Given the description of an element on the screen output the (x, y) to click on. 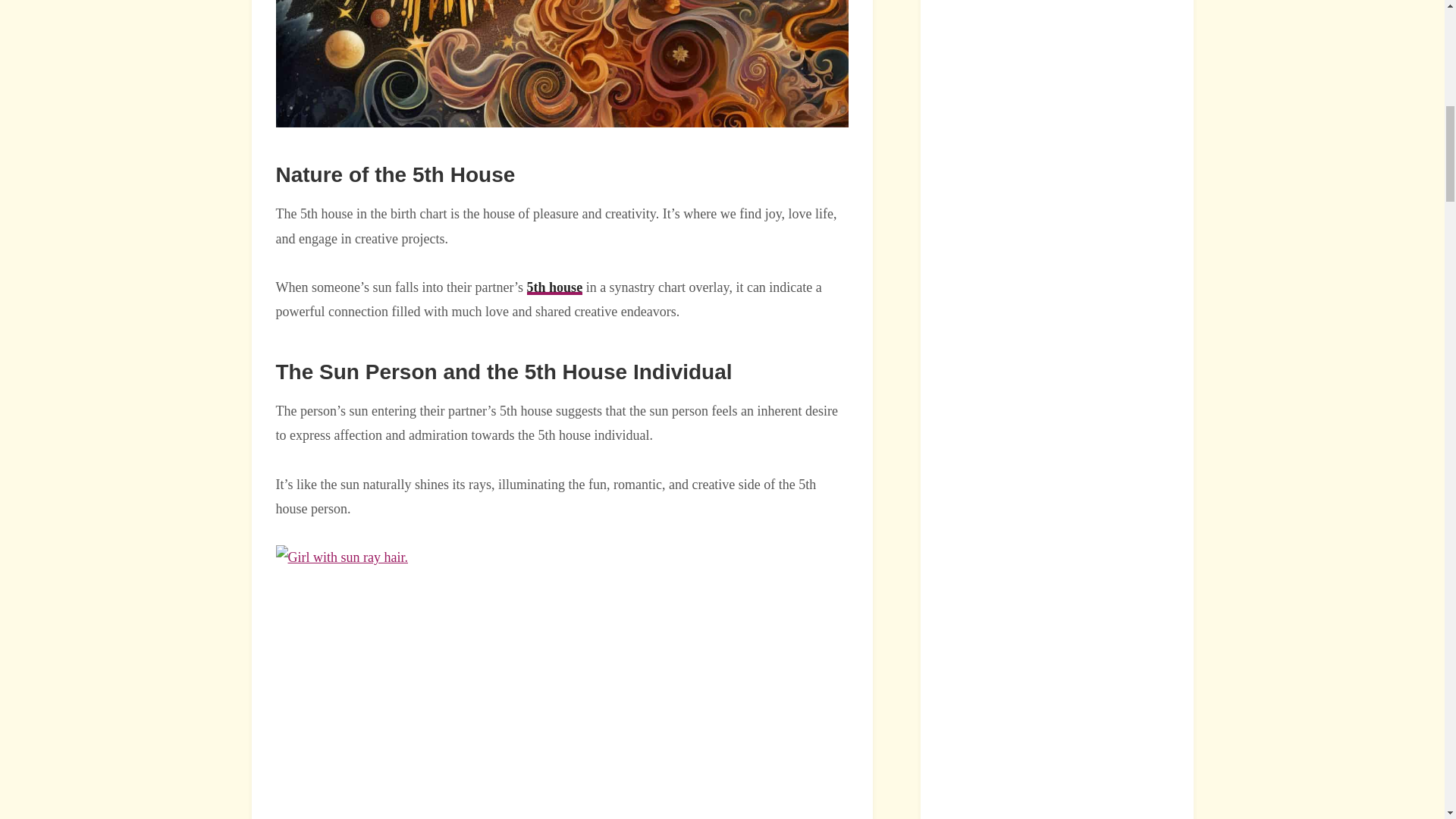
5th house (555, 287)
5th house (555, 287)
